Given the description of an element on the screen output the (x, y) to click on. 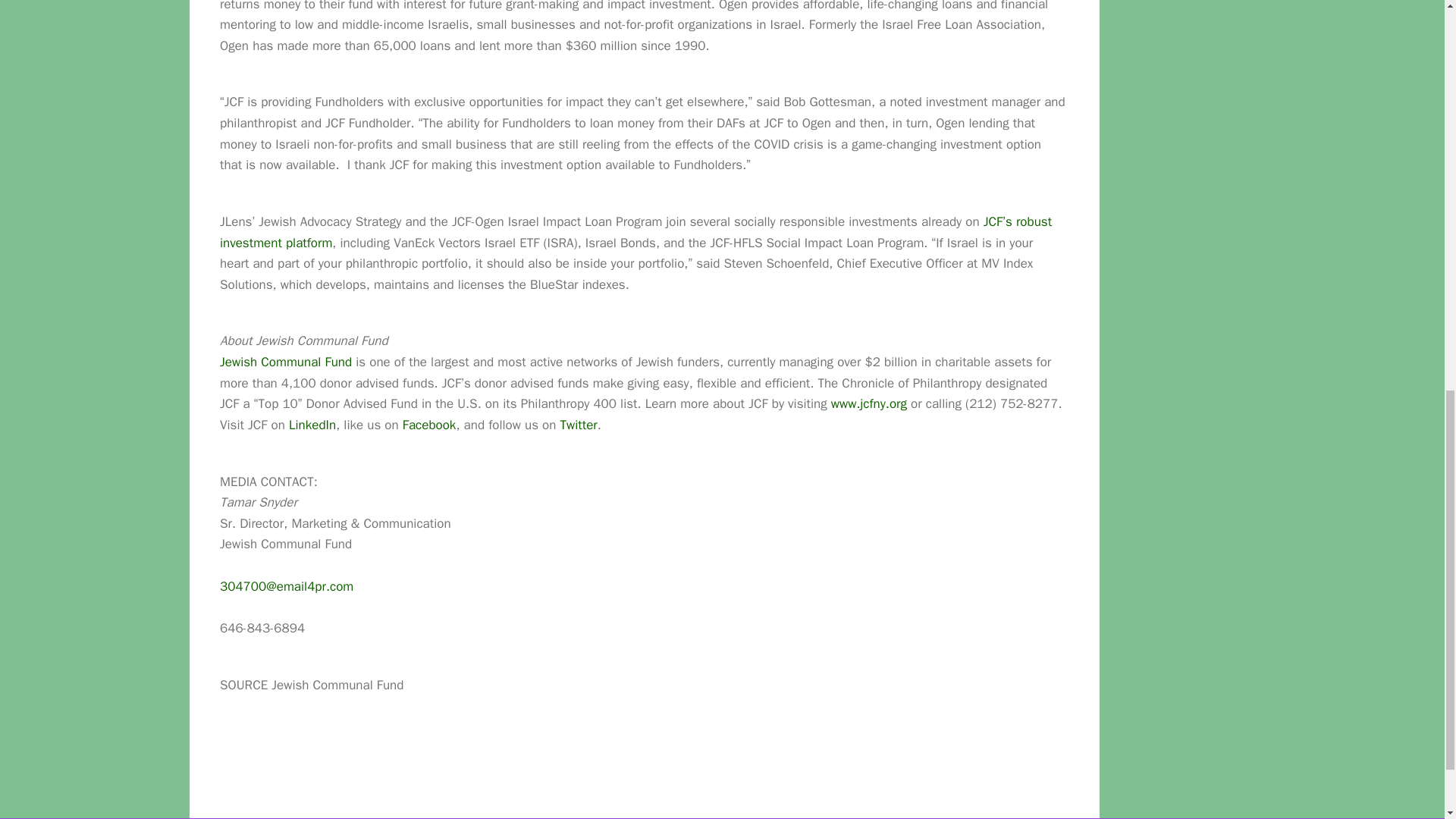
Jewish Communal Fund (285, 361)
LinkedIn (312, 424)
www.jcfny.org (869, 403)
Facebook (430, 424)
Twitter (578, 424)
